Given the description of an element on the screen output the (x, y) to click on. 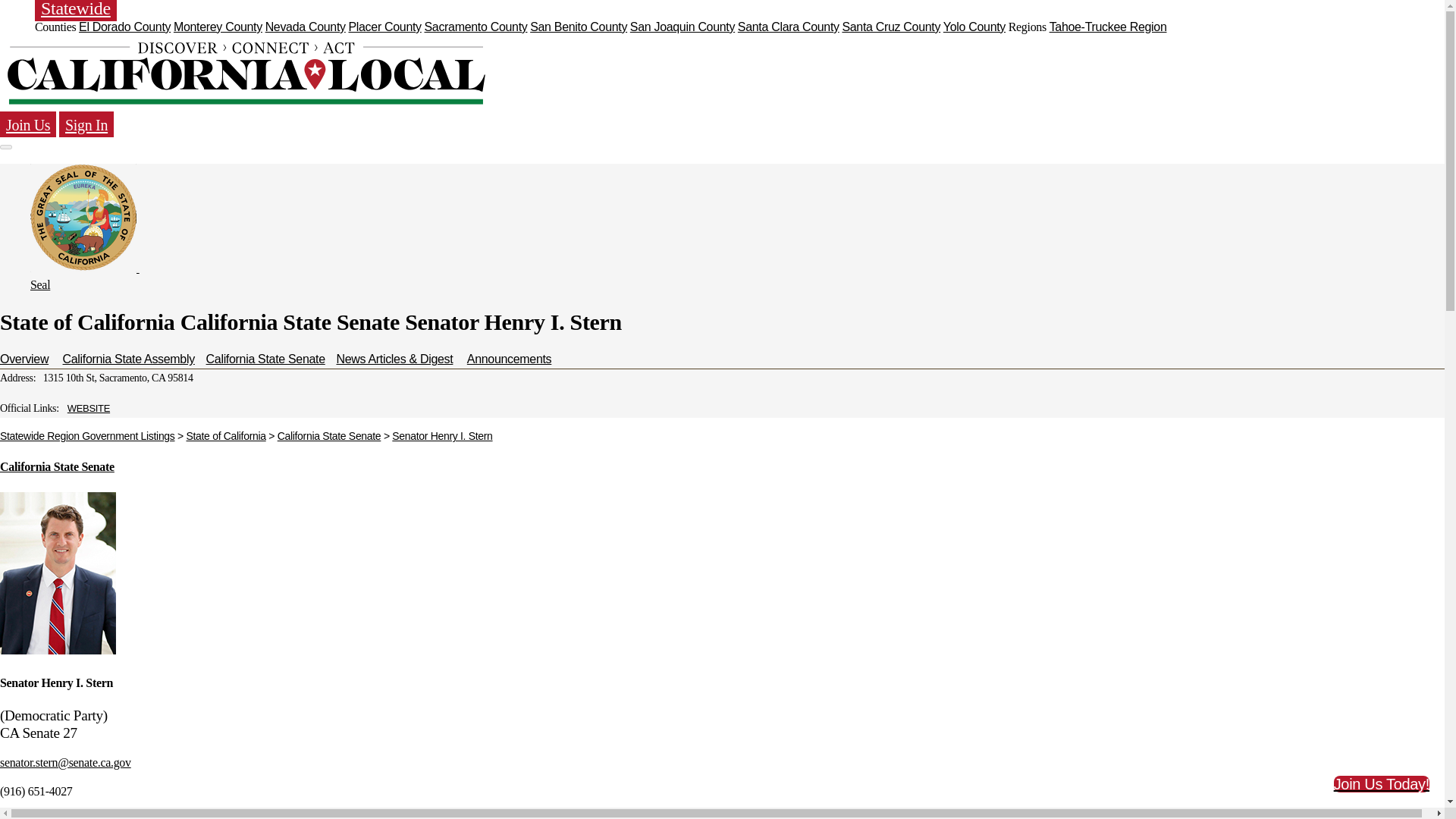
Welcome! Glad you came to participate! (86, 124)
Tahoe-Truckee Region (1108, 26)
Click to return to the current county overview. (246, 73)
California State Assembly (128, 358)
WEBSITE (88, 408)
Join Us (28, 124)
Yolo County (974, 26)
San Benito County (578, 26)
Statewide (75, 10)
California State Senate (57, 466)
Statewide Region Government Listings (87, 435)
Placer County (383, 26)
Nevada County (305, 26)
Announcements (509, 358)
